Given the description of an element on the screen output the (x, y) to click on. 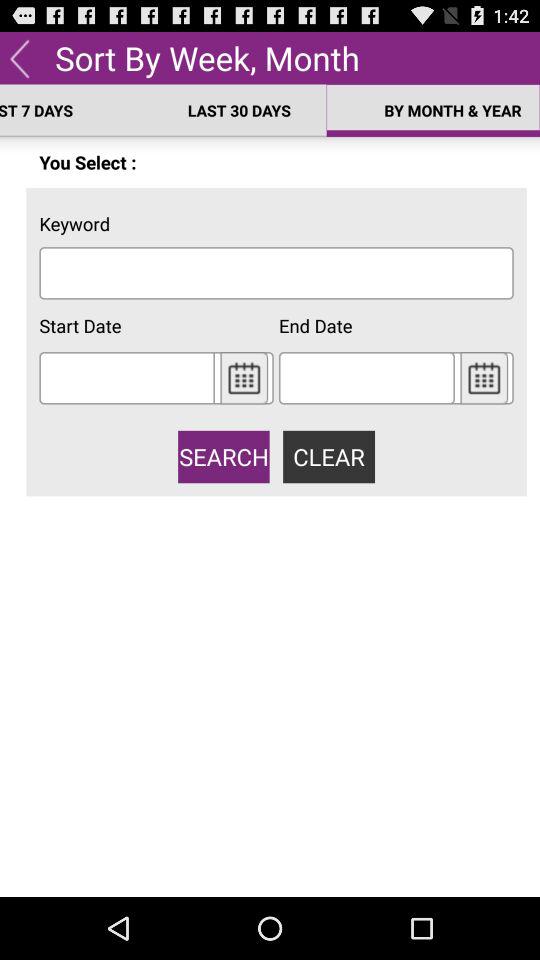
click calender (243, 377)
